Given the description of an element on the screen output the (x, y) to click on. 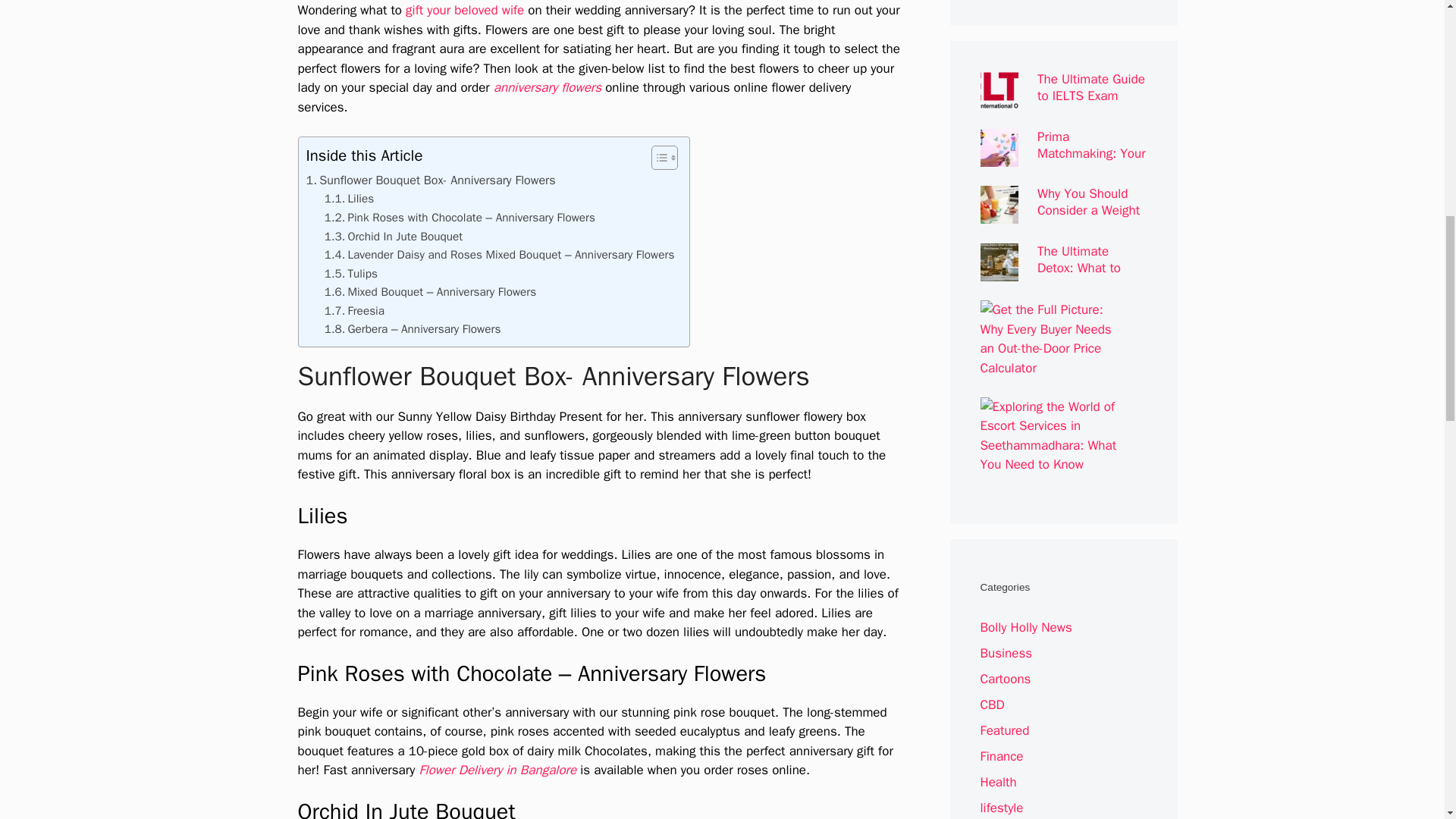
Flower Delivery in Bangalore (497, 770)
Sunflower Bouquet Box- Anniversary Flowers (430, 180)
Tulips (350, 273)
Orchid In Jute Bouquet (393, 236)
Sunflower Bouquet Box- Anniversary Flowers (430, 180)
Freesia (354, 311)
Orchid In Jute Bouquet (393, 236)
Lilies (349, 198)
Tulips (350, 273)
anniversary flowers (547, 87)
